Given the description of an element on the screen output the (x, y) to click on. 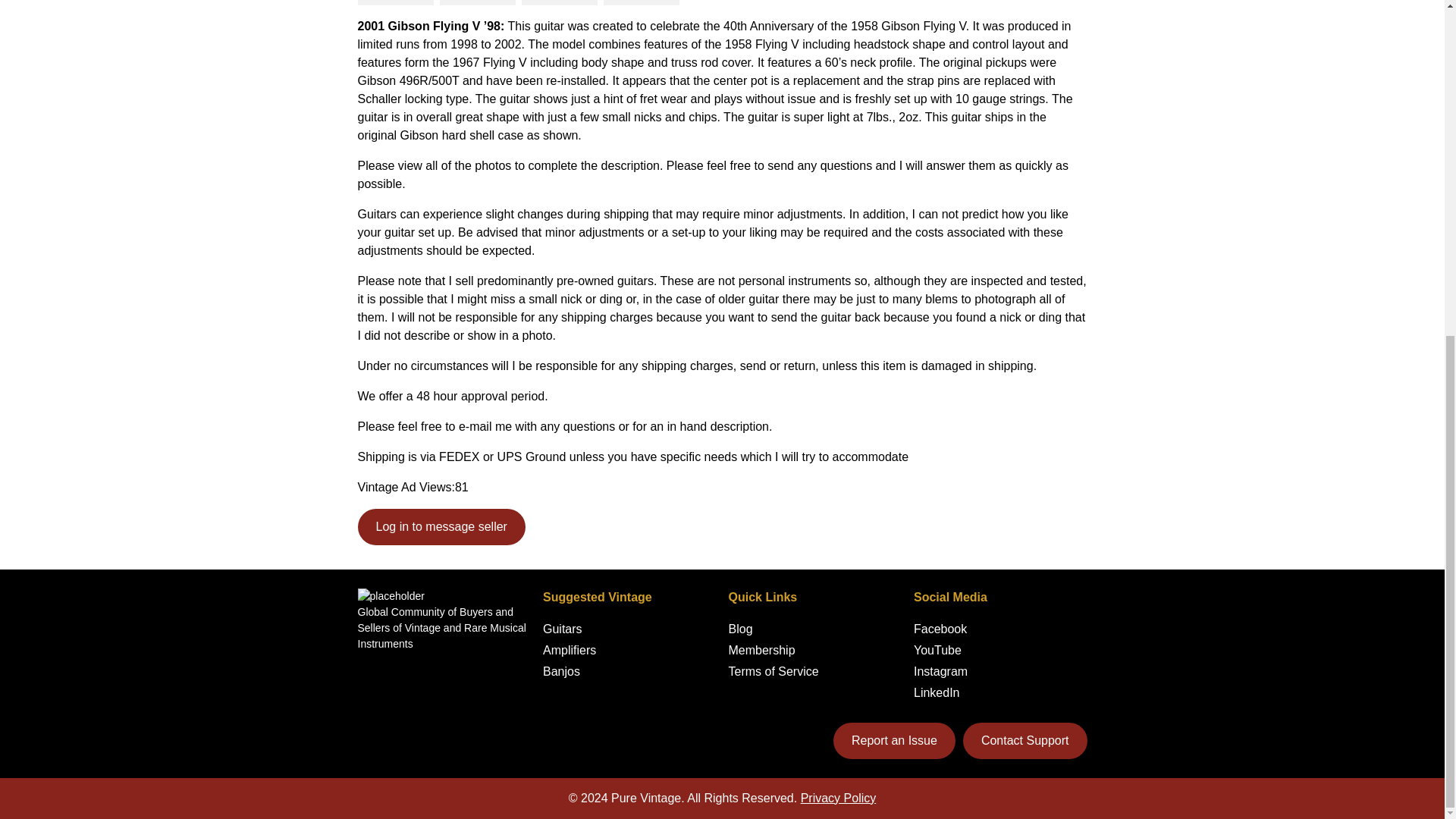
Terms of Service (773, 671)
Log in to message seller (441, 526)
Membership (761, 649)
Blog (740, 629)
Report an Issue (893, 740)
YouTube (937, 649)
Guitars (562, 629)
Contact Support (1024, 740)
Banjos (561, 671)
Facebook (940, 629)
LinkedIn (936, 692)
Instagram (941, 671)
Amplifiers (569, 649)
